Given the description of an element on the screen output the (x, y) to click on. 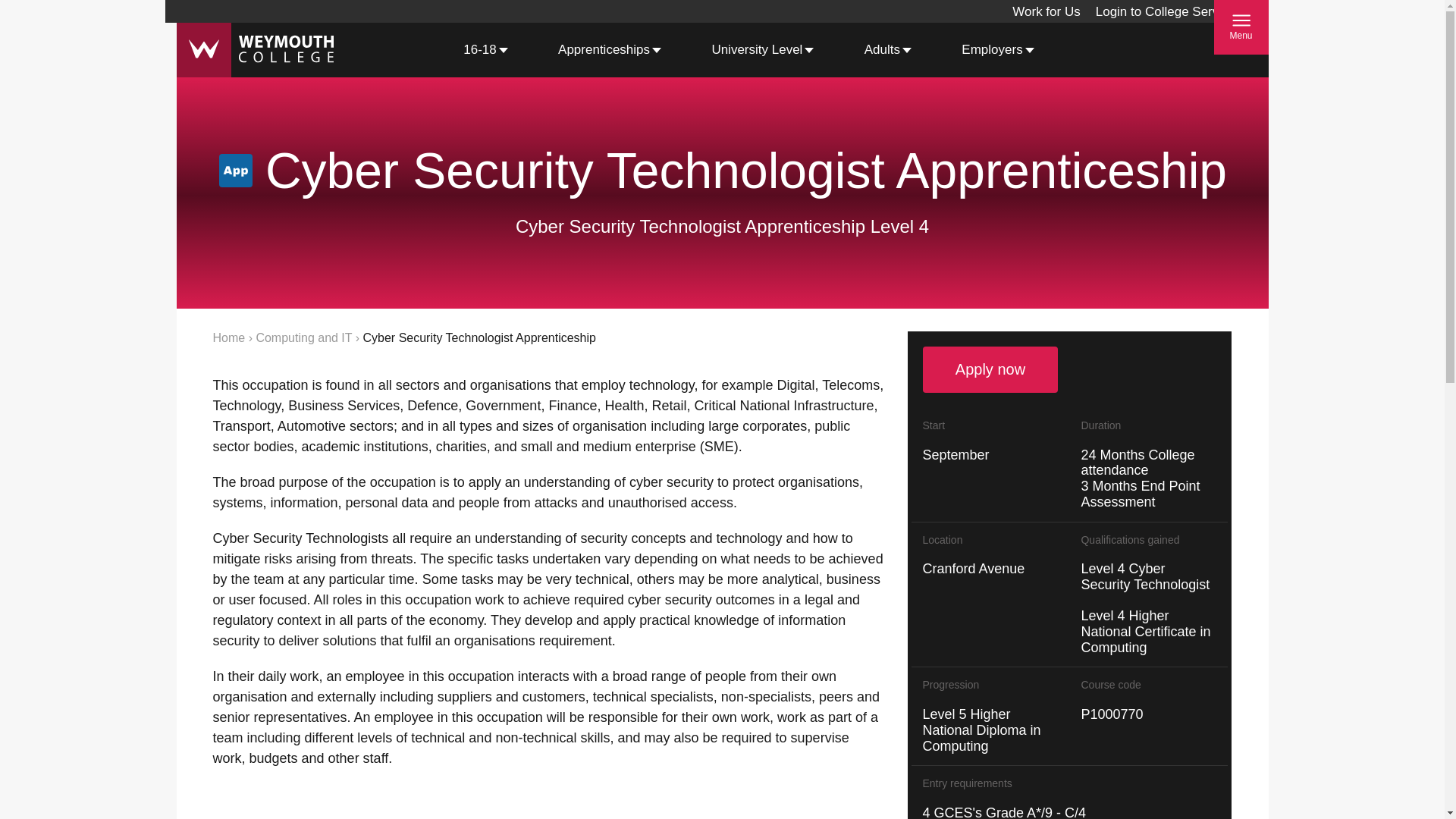
Apprenticeships (603, 49)
Login to College Services (1168, 11)
Employers (991, 49)
University Level (756, 49)
Work for Us (1045, 11)
